Given the description of an element on the screen output the (x, y) to click on. 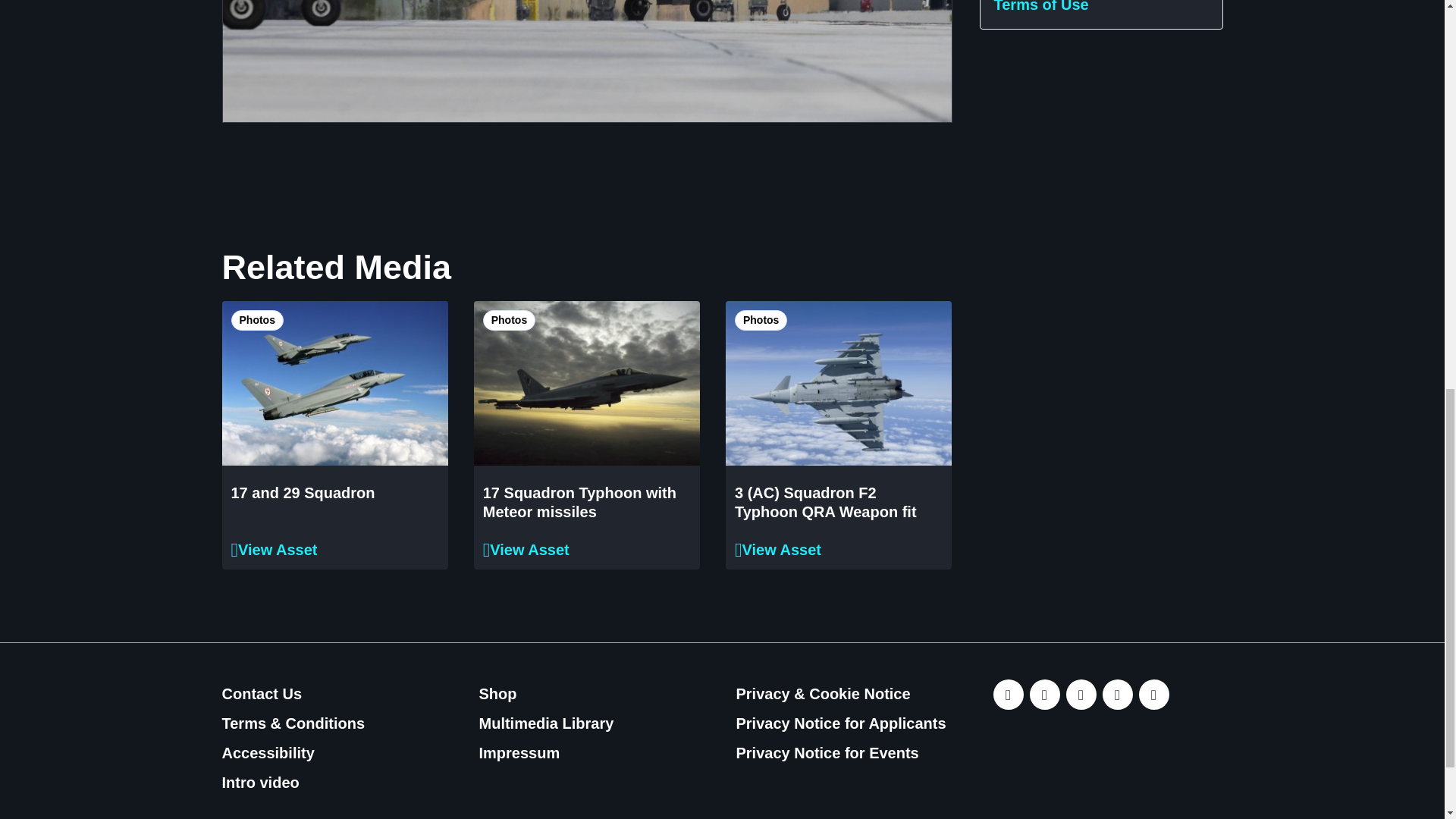
Intro video (293, 782)
View Asset (273, 549)
Privacy Notice for Events (839, 753)
View Asset (778, 549)
X (1044, 694)
LinkedIn (1007, 694)
Multimedia Library (546, 723)
Privacy Notice for Applicants (839, 723)
Facebook (1117, 694)
Shop (546, 694)
